Given the description of an element on the screen output the (x, y) to click on. 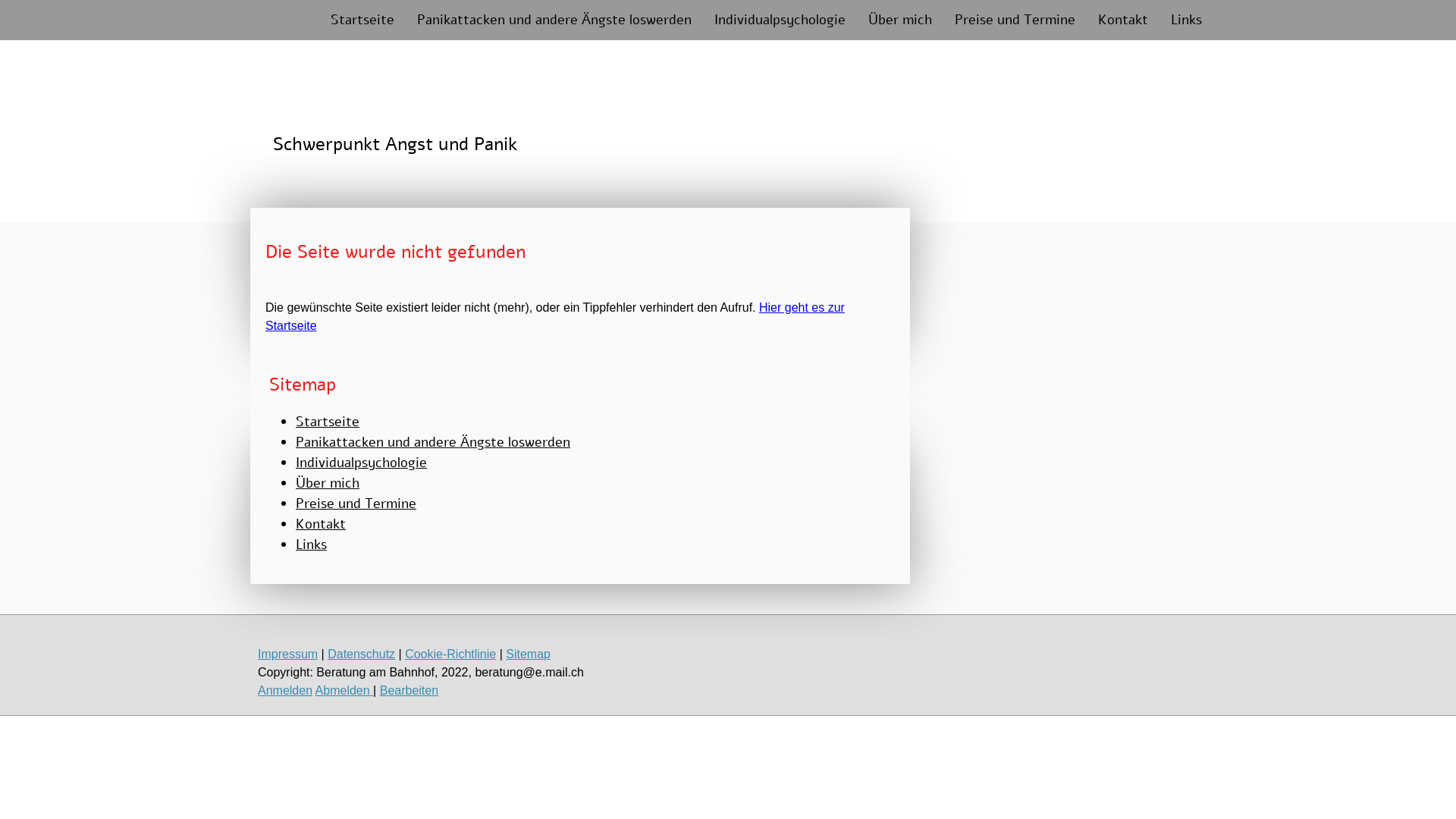
Kontakt Element type: text (320, 523)
Kontakt Element type: text (1122, 20)
Individualpsychologie Element type: text (360, 462)
Preise und Termine Element type: text (1014, 20)
Impressum Element type: text (287, 653)
Links Element type: text (310, 544)
Anmelden Element type: text (284, 690)
Preise und Termine Element type: text (355, 503)
Schwerpunkt Angst und Panik Element type: text (395, 145)
Sitemap Element type: text (527, 653)
Cookie-Richtlinie Element type: text (449, 653)
Datenschutz Element type: text (361, 653)
Links Element type: text (1186, 20)
Hier geht es zur Startseite Element type: text (554, 316)
Startseite Element type: text (327, 421)
Abmelden Element type: text (344, 690)
Individualpsychologie Element type: text (779, 20)
Startseite Element type: text (362, 20)
Bearbeiten Element type: text (408, 690)
